Given the description of an element on the screen output the (x, y) to click on. 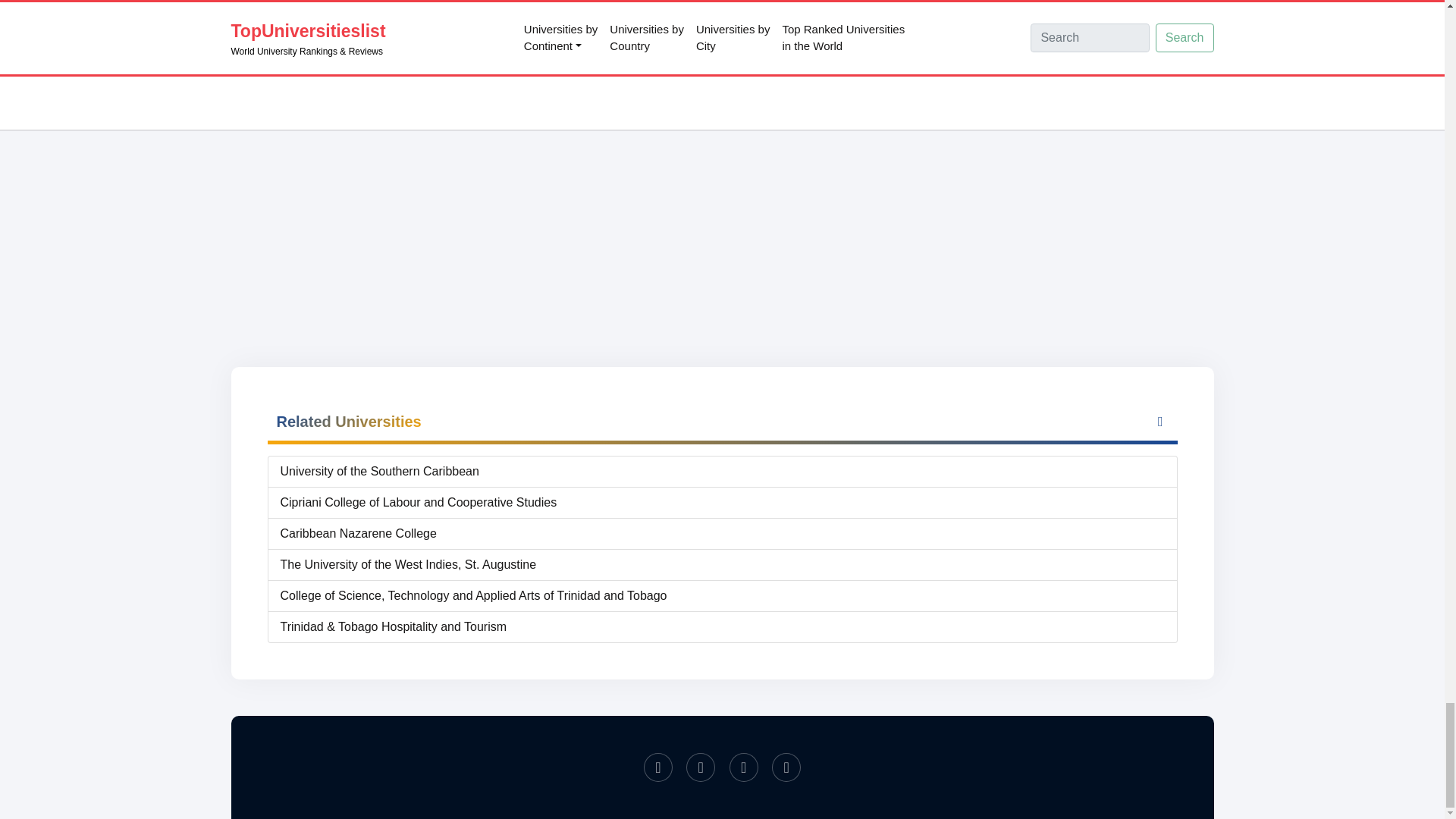
The University of the West Indies, St. Augustine (722, 565)
Caribbean Nazarene College (722, 533)
University of the Southern Caribbean (722, 471)
Cipriani College of Labour and Cooperative Studies (722, 502)
The University of the West Indies, St. Augustine (722, 565)
Caribbean Nazarene College (722, 533)
University of the Southern Caribbean (722, 471)
Cipriani College of Labour and Cooperative Studies (722, 502)
